Given the description of an element on the screen output the (x, y) to click on. 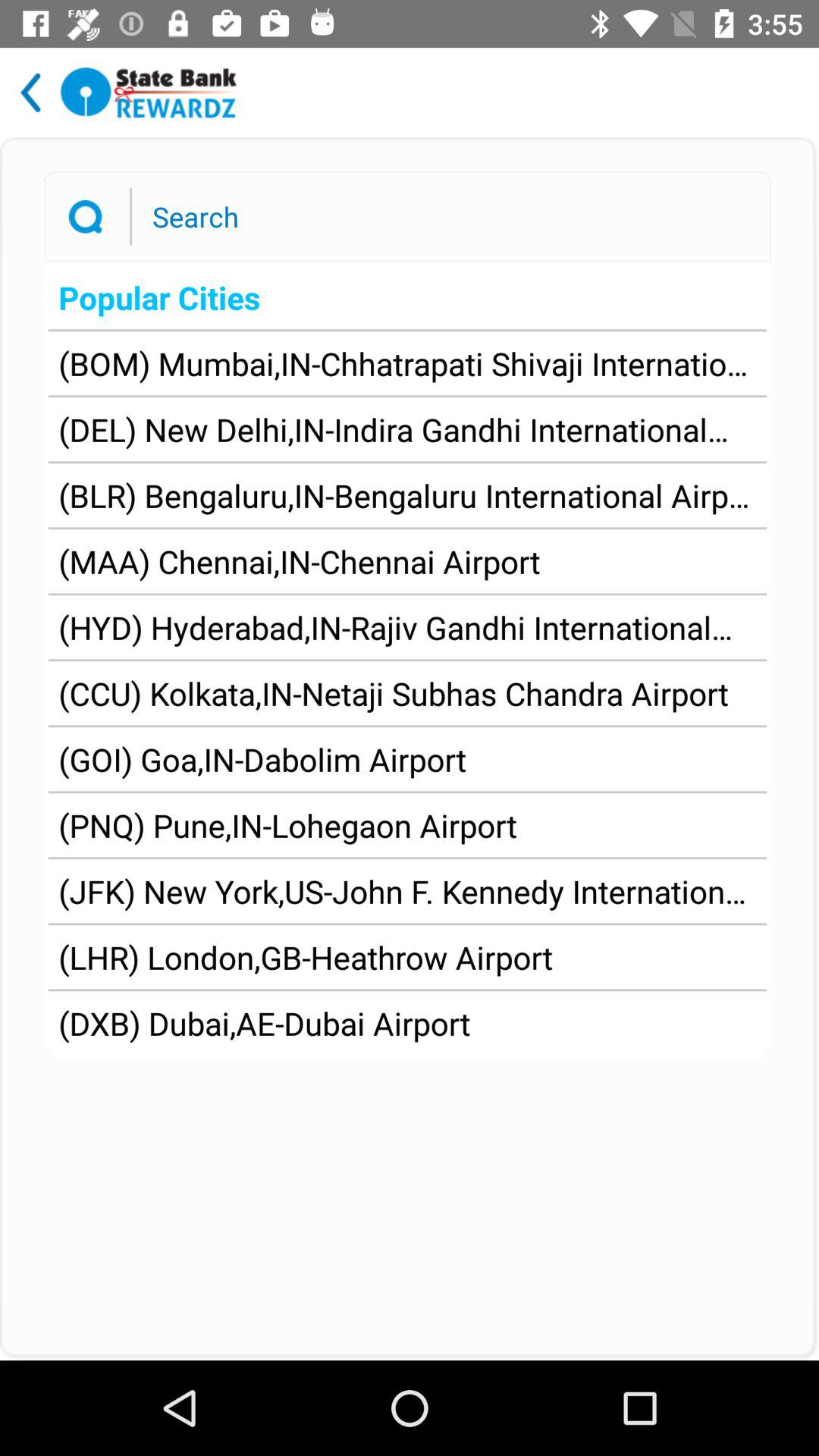
press jfk new york icon (407, 890)
